Given the description of an element on the screen output the (x, y) to click on. 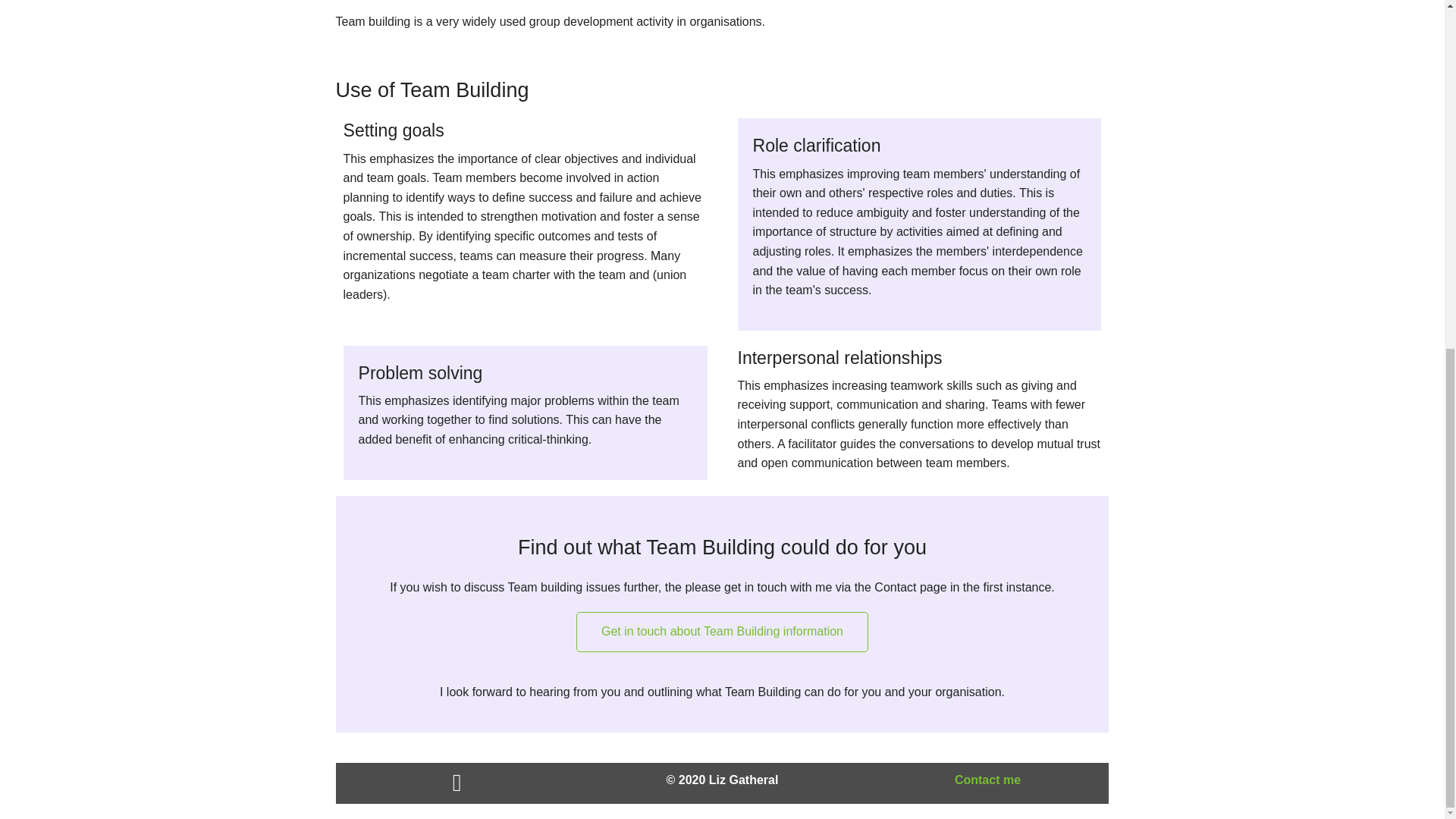
Send-me-an-email (987, 779)
Contact me (987, 779)
Get in touch about Team Building information (721, 631)
